Given the description of an element on the screen output the (x, y) to click on. 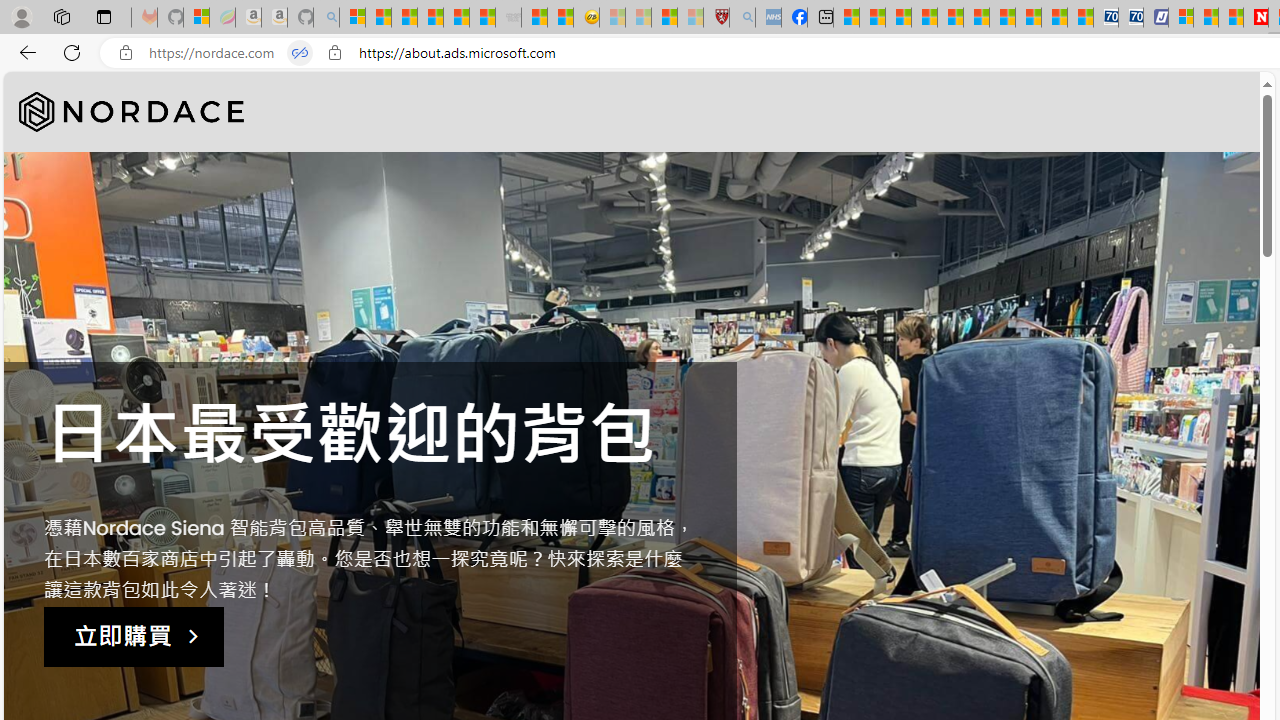
World - MSN (898, 17)
New Report Confirms 2023 Was Record Hot | Watch (456, 17)
Workspaces (61, 16)
Robert H. Shmerling, MD - Harvard Health (716, 17)
View site information (334, 53)
list of asthma inhalers uk - Search - Sleeping (742, 17)
Cheap Car Rentals - Save70.com (1105, 17)
Microsoft Start (1206, 17)
Newsweek - News, Analysis, Politics, Business, Technology (1256, 17)
Microsoft account | Privacy (1180, 17)
New tab (820, 17)
Recipes - MSN - Sleeping (612, 17)
NCL Adult Asthma Inhaler Choice Guideline - Sleeping (768, 17)
